Given the description of an element on the screen output the (x, y) to click on. 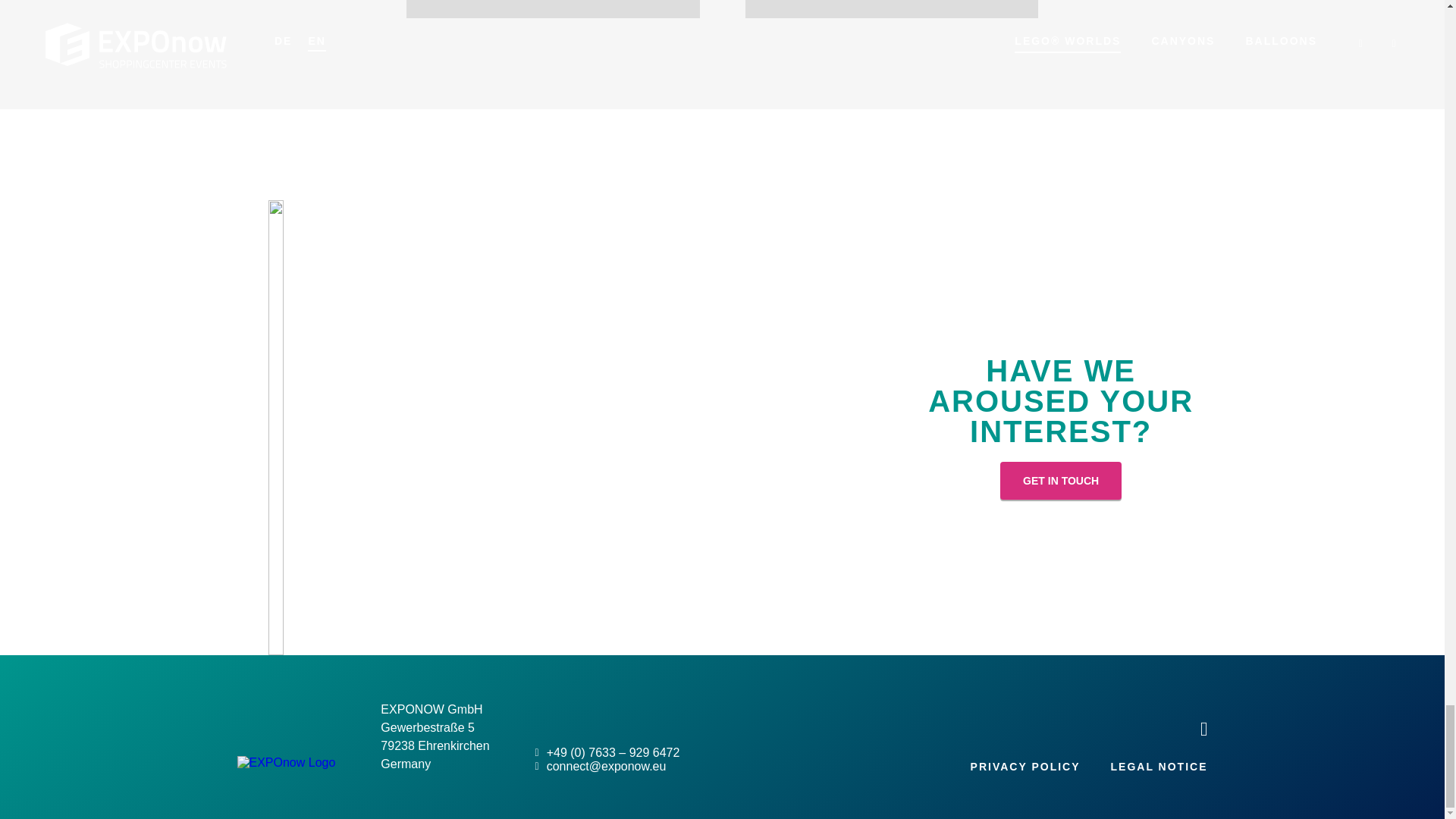
GET IN TOUCH (891, 9)
